Given the description of an element on the screen output the (x, y) to click on. 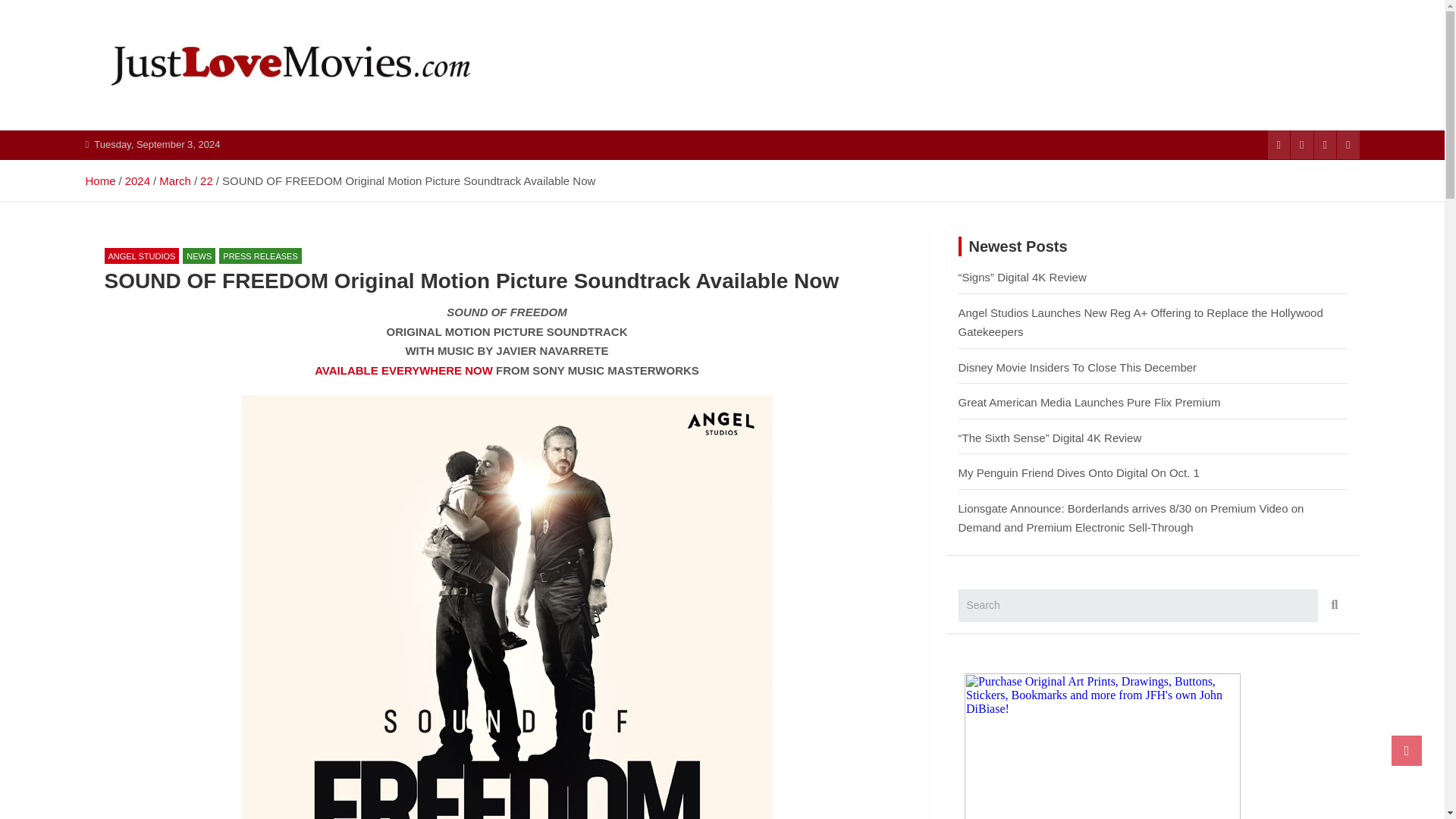
Disney Movie Insiders To Close This December (1077, 367)
2024 (137, 180)
PRESS RELEASES (260, 255)
Go to Top (1406, 750)
Search (1332, 604)
Just Love Movies (210, 127)
March (174, 180)
AVAILABLE EVERYWHERE NOW (403, 369)
ANGEL STUDIOS (141, 255)
Home (99, 180)
